Given the description of an element on the screen output the (x, y) to click on. 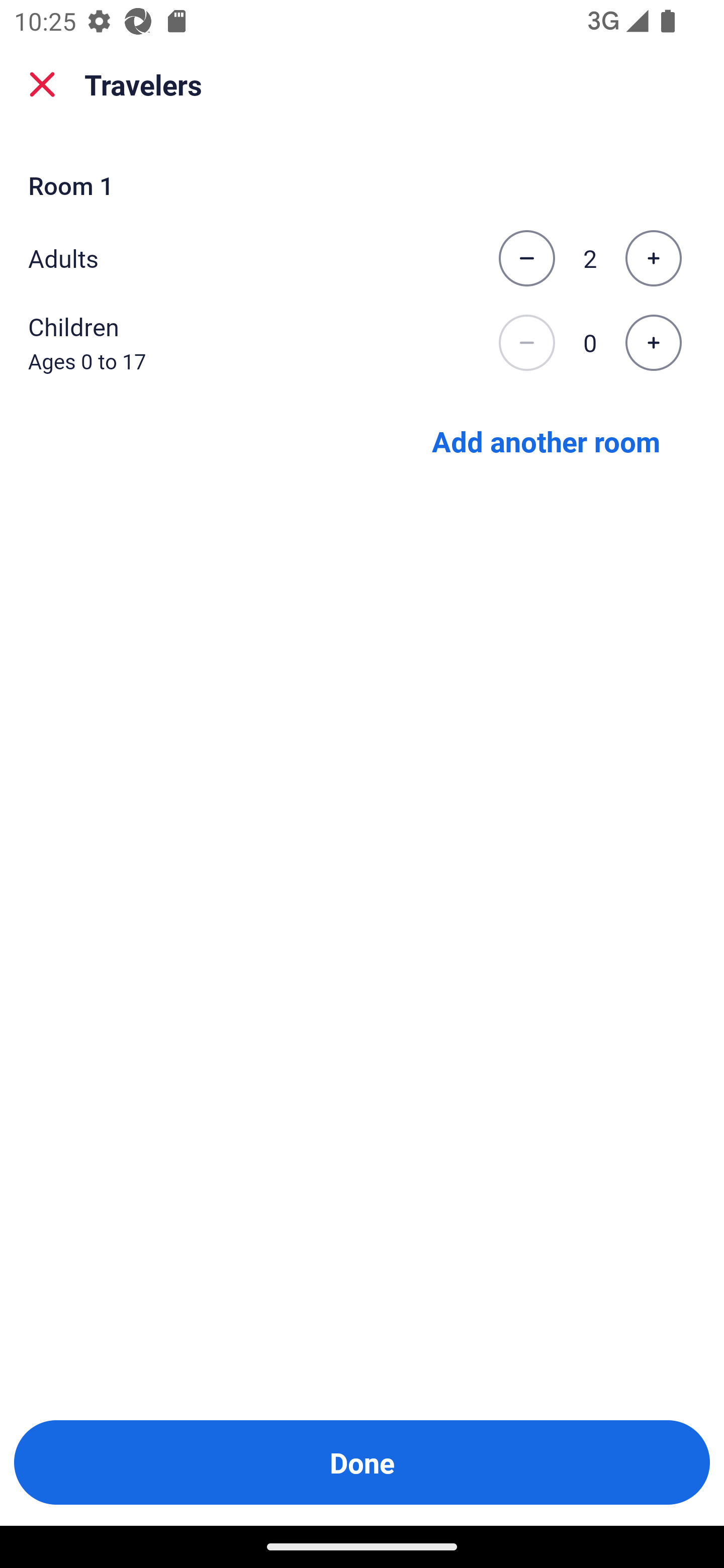
close (42, 84)
Decrease the number of adults (526, 258)
Increase the number of adults (653, 258)
Decrease the number of children (526, 343)
Increase the number of children (653, 343)
Add another room (545, 440)
Done (361, 1462)
